Given the description of an element on the screen output the (x, y) to click on. 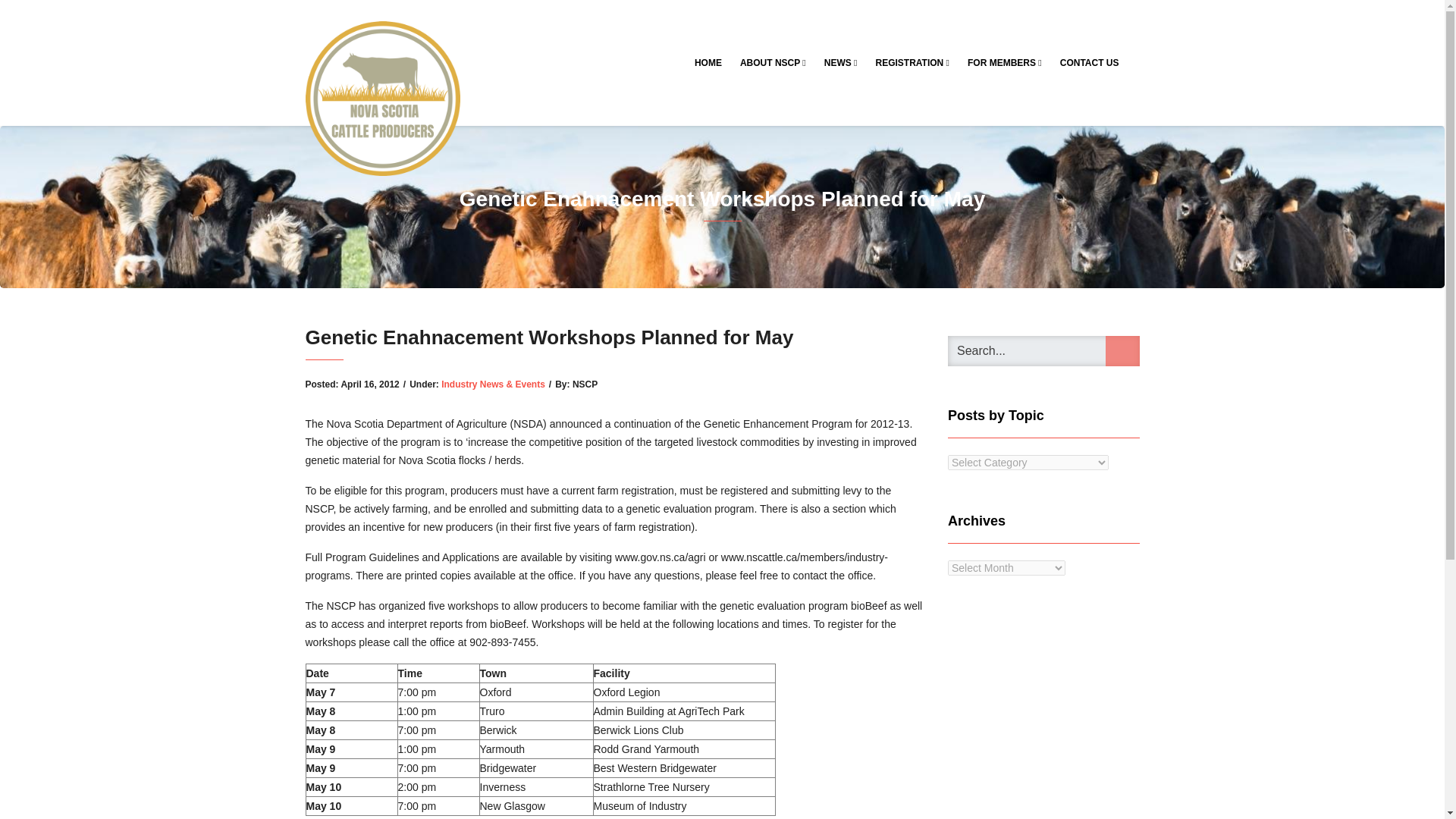
CONTACT US (1089, 62)
HOME (707, 62)
Search for: (1043, 350)
FOR MEMBERS (1004, 62)
NEWS (840, 62)
REGISTRATION (912, 62)
ABOUT NSCP (772, 62)
